Given the description of an element on the screen output the (x, y) to click on. 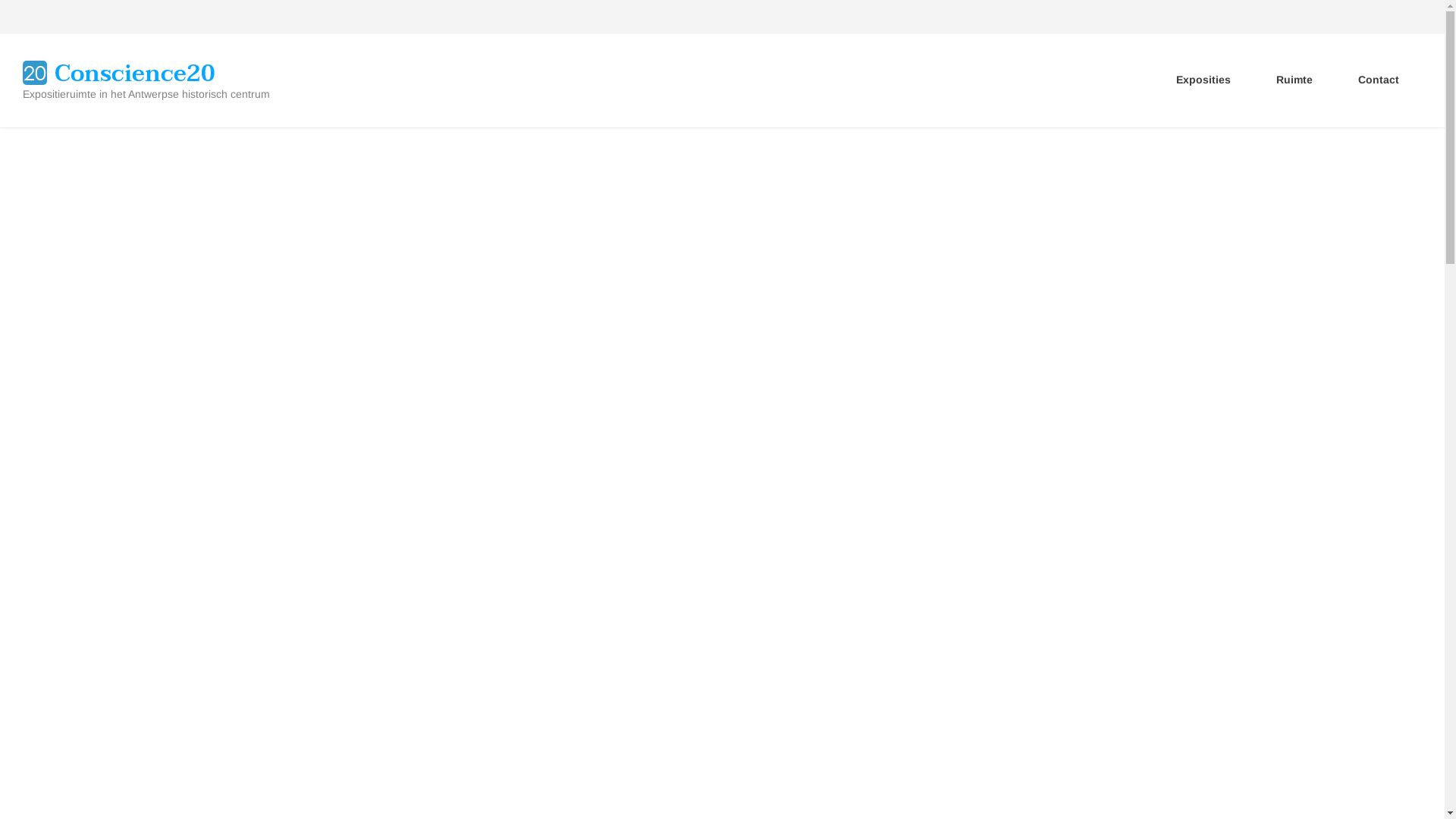
Home Element type: hover (34, 71)
Exposities Element type: text (1203, 79)
Ruimte Element type: text (1294, 79)
Contact Element type: text (1378, 79)
Conscience20 Element type: text (134, 73)
Overslaan en naar de inhoud gaan Element type: text (0, 0)
